Given the description of an element on the screen output the (x, y) to click on. 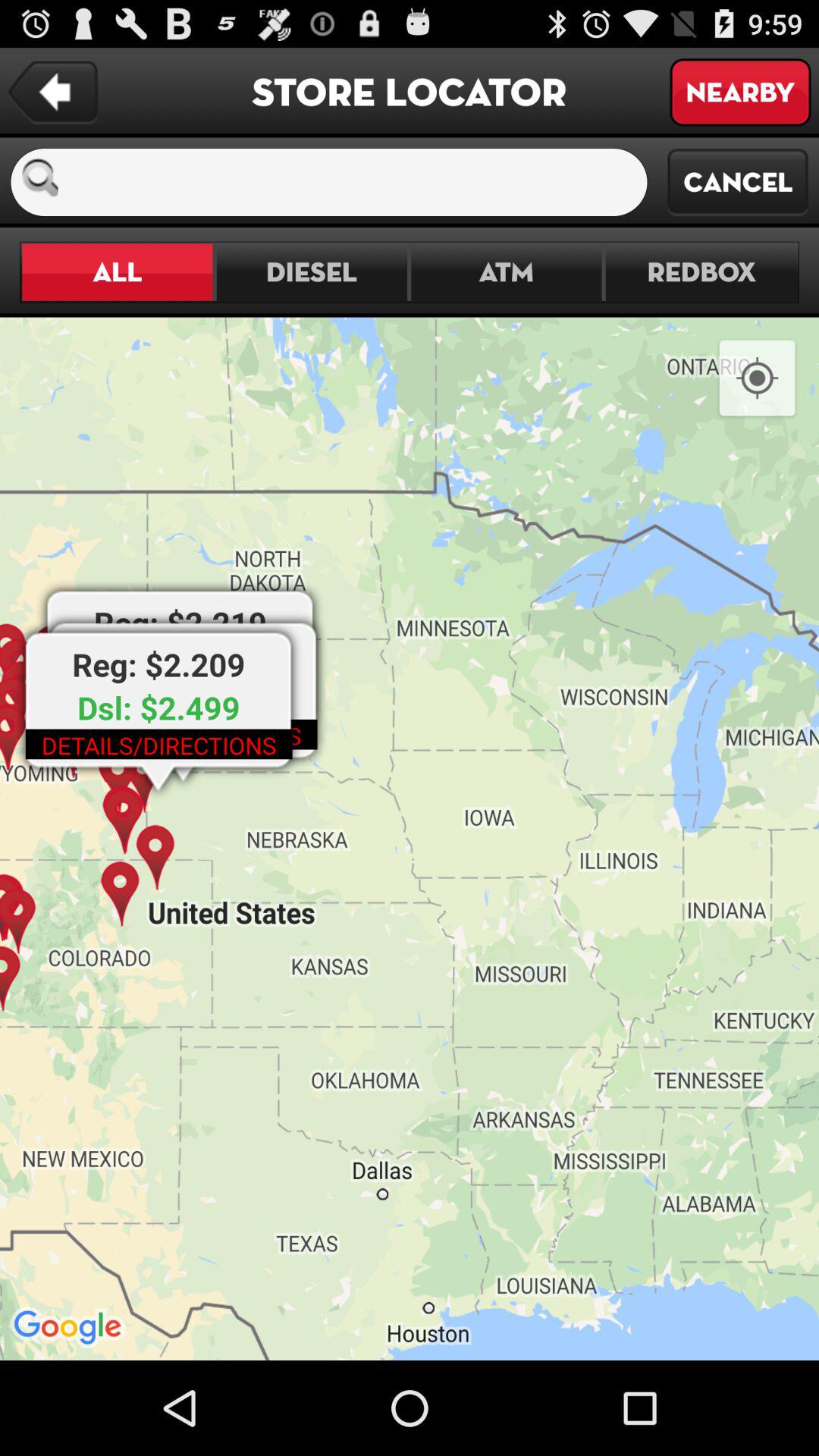
open atm (506, 271)
